Given the description of an element on the screen output the (x, y) to click on. 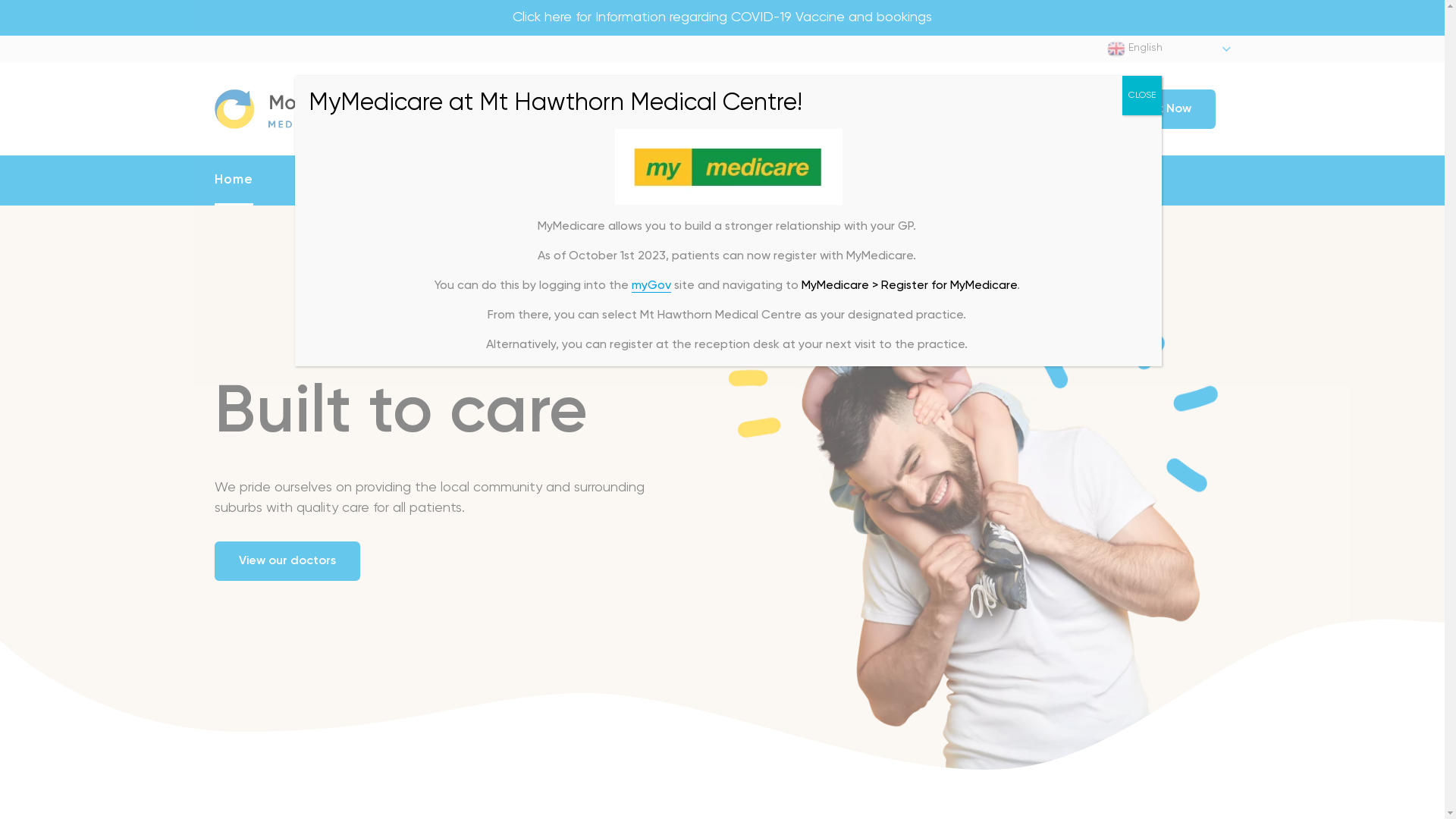
Mt Hawthorn Medical Element type: hover (327, 106)
myGov Element type: text (650, 285)
English Element type: text (1168, 49)
Skip to content Element type: text (0, 0)
Book Now Element type: text (1162, 108)
Contact Element type: text (1096, 180)
GP Urgent Care Element type: text (907, 180)
Services Element type: text (719, 180)
About Element type: text (385, 180)
Home Element type: text (232, 180)
View our doctors Element type: text (286, 560)
Our Team Element type: text (552, 180)
(08) 9444 1644 Element type: text (834, 108)
CLOSE Element type: text (1141, 95)
